Given the description of an element on the screen output the (x, y) to click on. 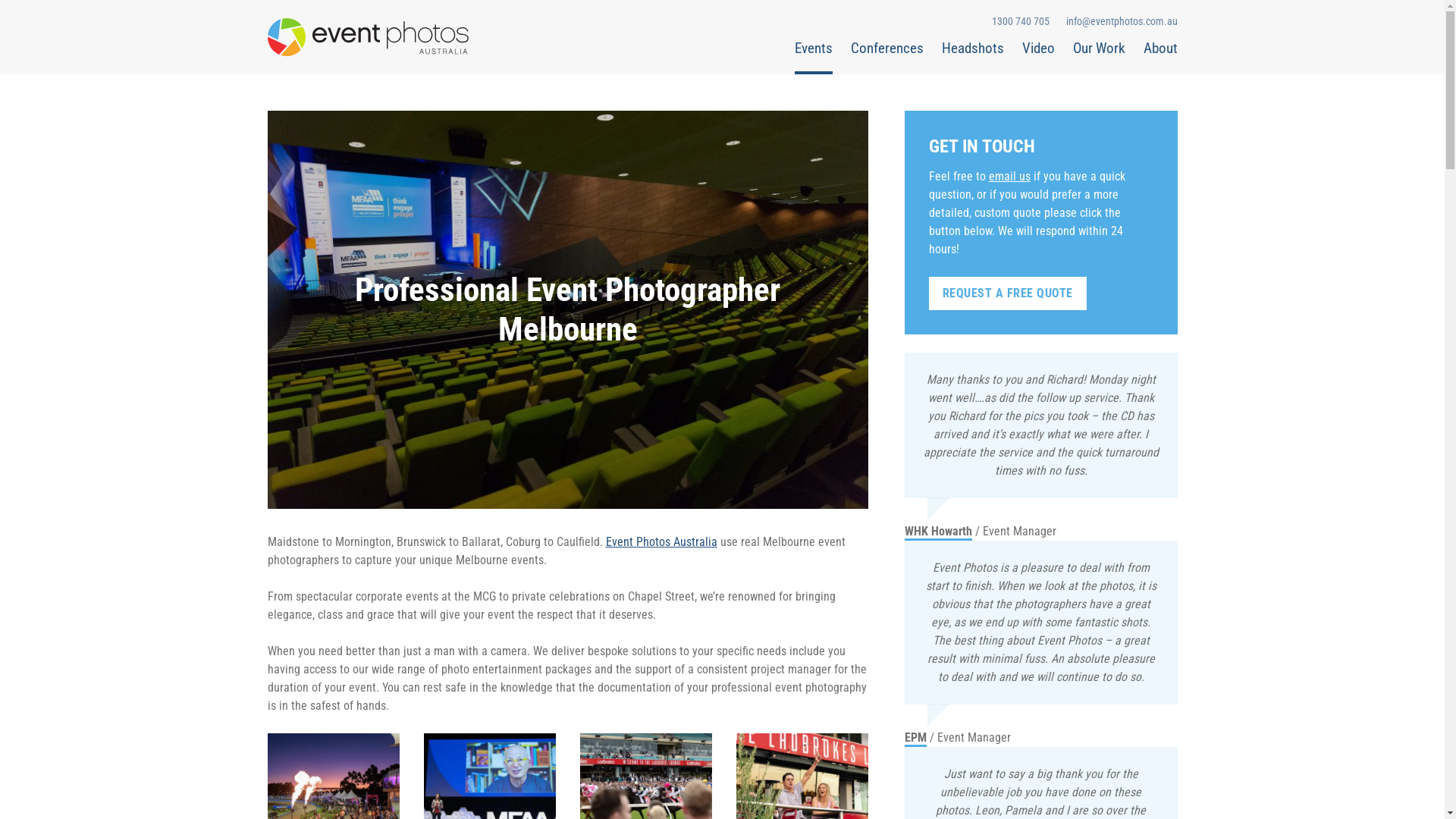
Conferences Element type: text (886, 55)
1300 740 705 Element type: text (1019, 21)
Headshots Element type: text (972, 55)
About Element type: text (1160, 55)
Events Element type: text (813, 55)
Our Work Element type: text (1098, 55)
REQUEST A FREE QUOTE Element type: text (1006, 293)
Video Element type: text (1038, 55)
email us Element type: text (1009, 176)
Event Photos Australia Element type: text (372, 37)
info@eventphotos.com.au Element type: text (1120, 21)
Event Photos Australia Element type: text (660, 541)
